Given the description of an element on the screen output the (x, y) to click on. 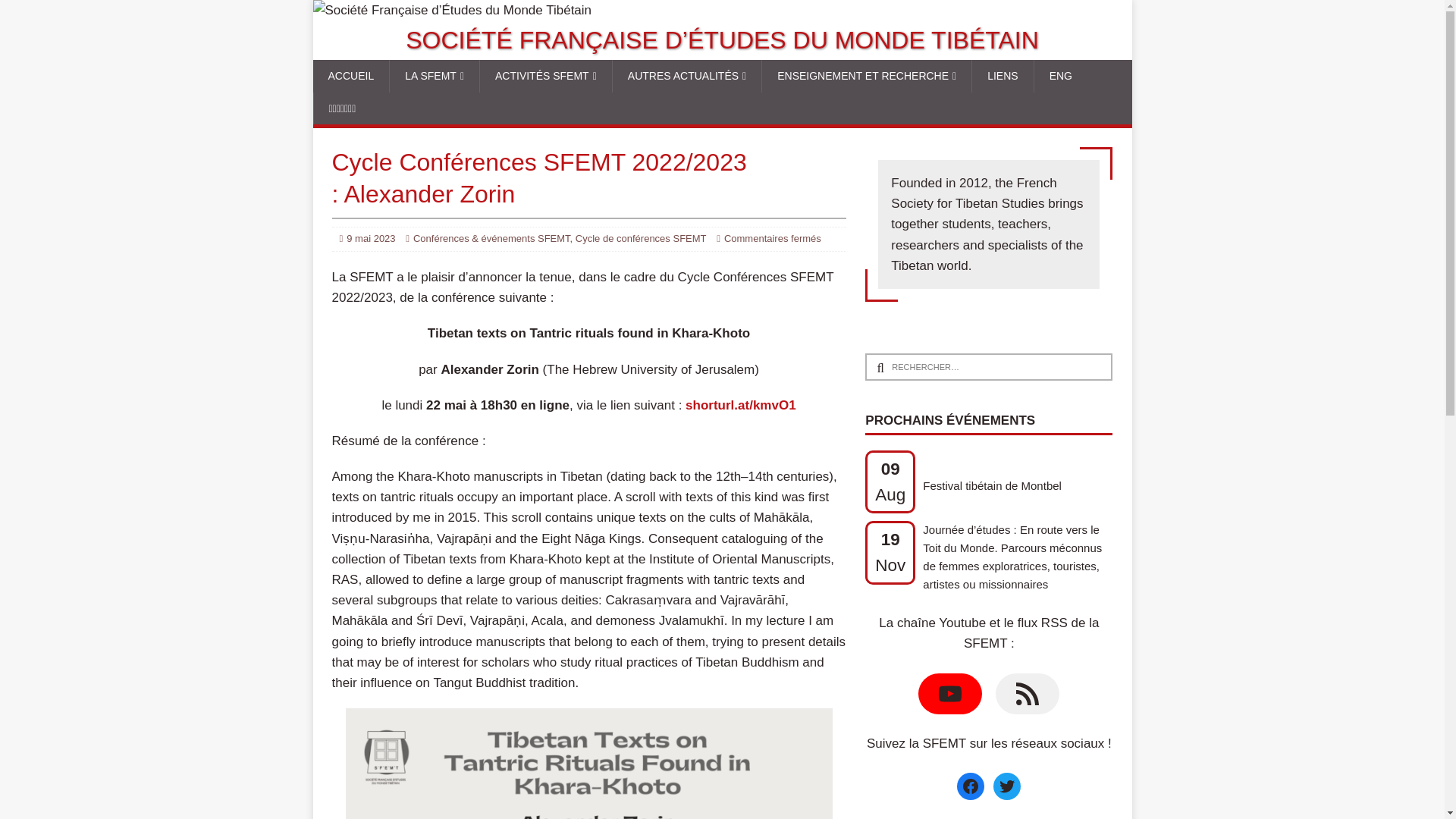
ACCUEIL (350, 75)
LA SFEMT (433, 75)
